Given the description of an element on the screen output the (x, y) to click on. 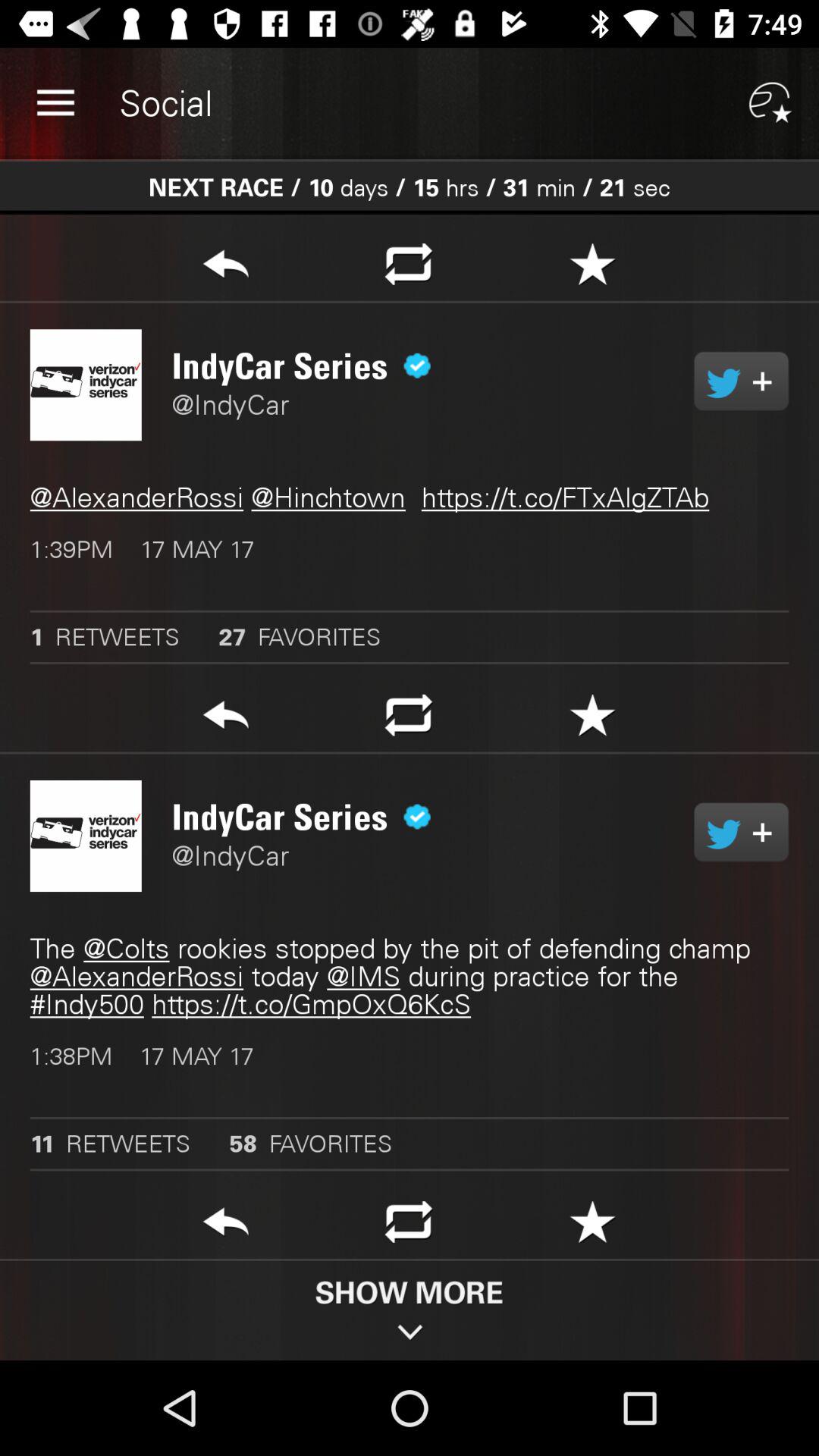
share tweet (225, 268)
